Given the description of an element on the screen output the (x, y) to click on. 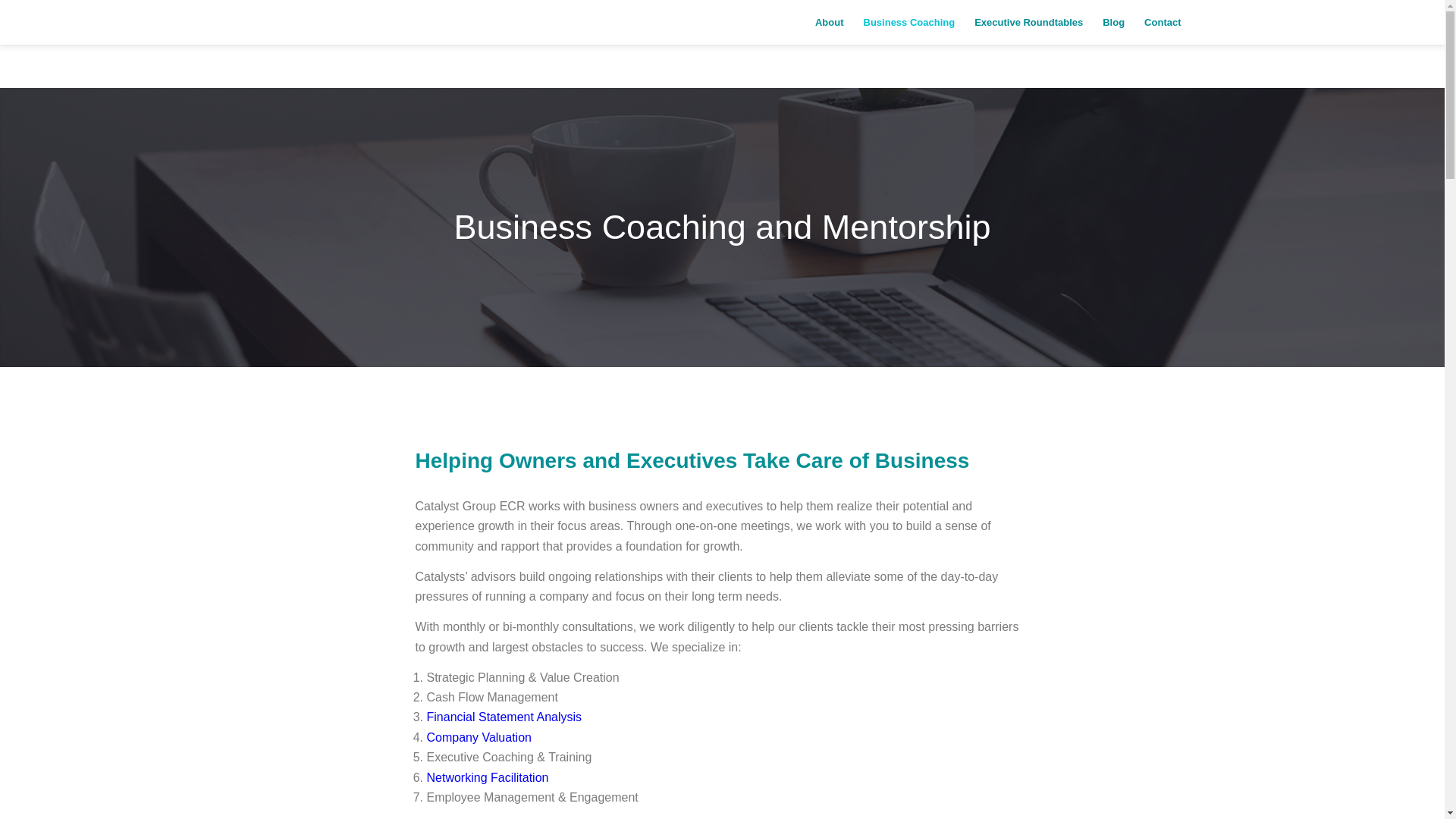
Networking Facilitation (487, 777)
Executive Roundtables (1028, 22)
About (829, 22)
Business Coaching (909, 22)
Company Valuation (478, 737)
Financial Statement Analysis (503, 716)
Contact (1157, 22)
Blog (1113, 22)
